Given the description of an element on the screen output the (x, y) to click on. 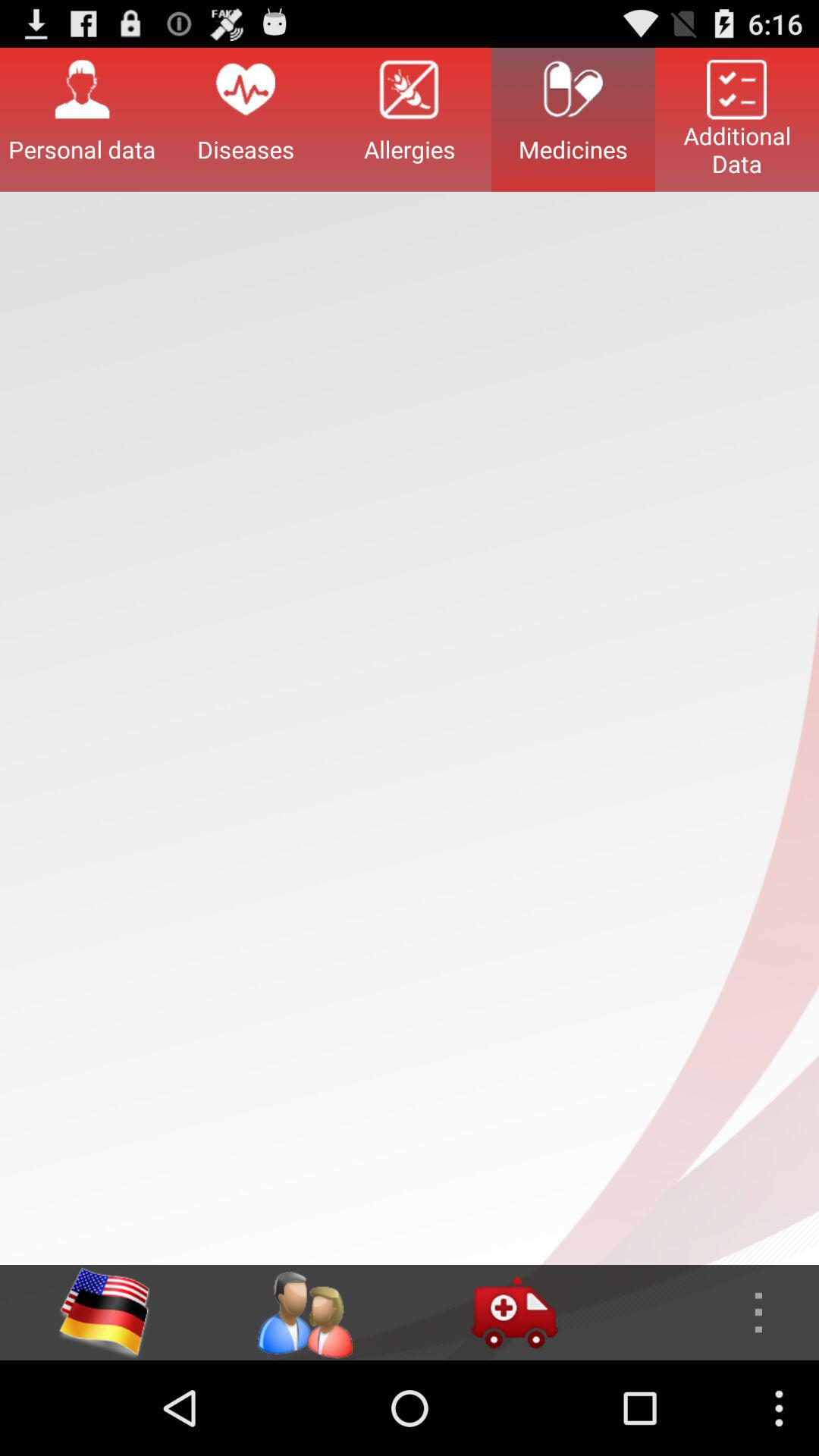
open item next to diseases (81, 119)
